Given the description of an element on the screen output the (x, y) to click on. 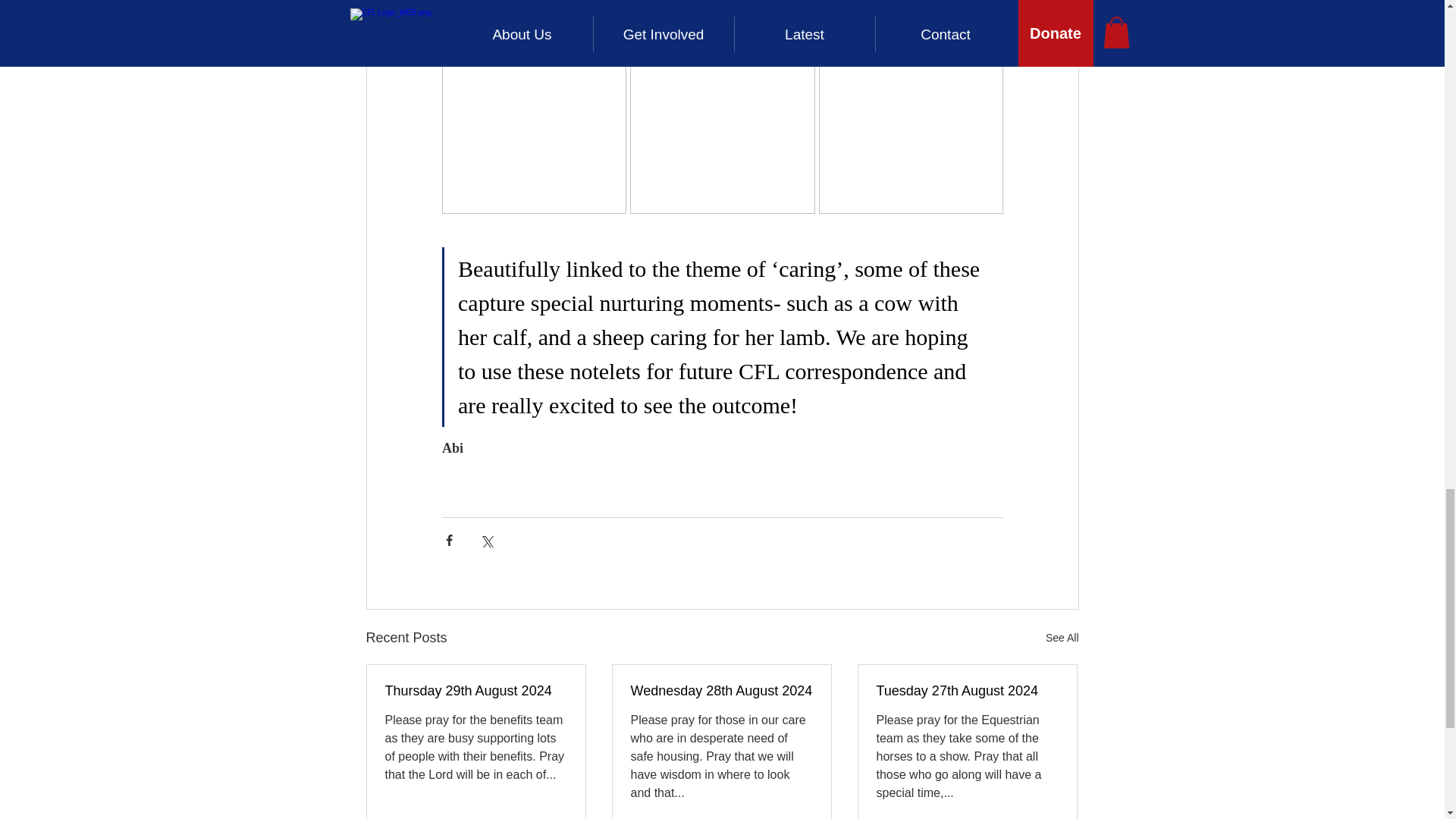
See All (1061, 638)
Thursday 29th August 2024 (476, 691)
Wednesday 28th August 2024 (721, 691)
Tuesday 27th August 2024 (967, 691)
